Given the description of an element on the screen output the (x, y) to click on. 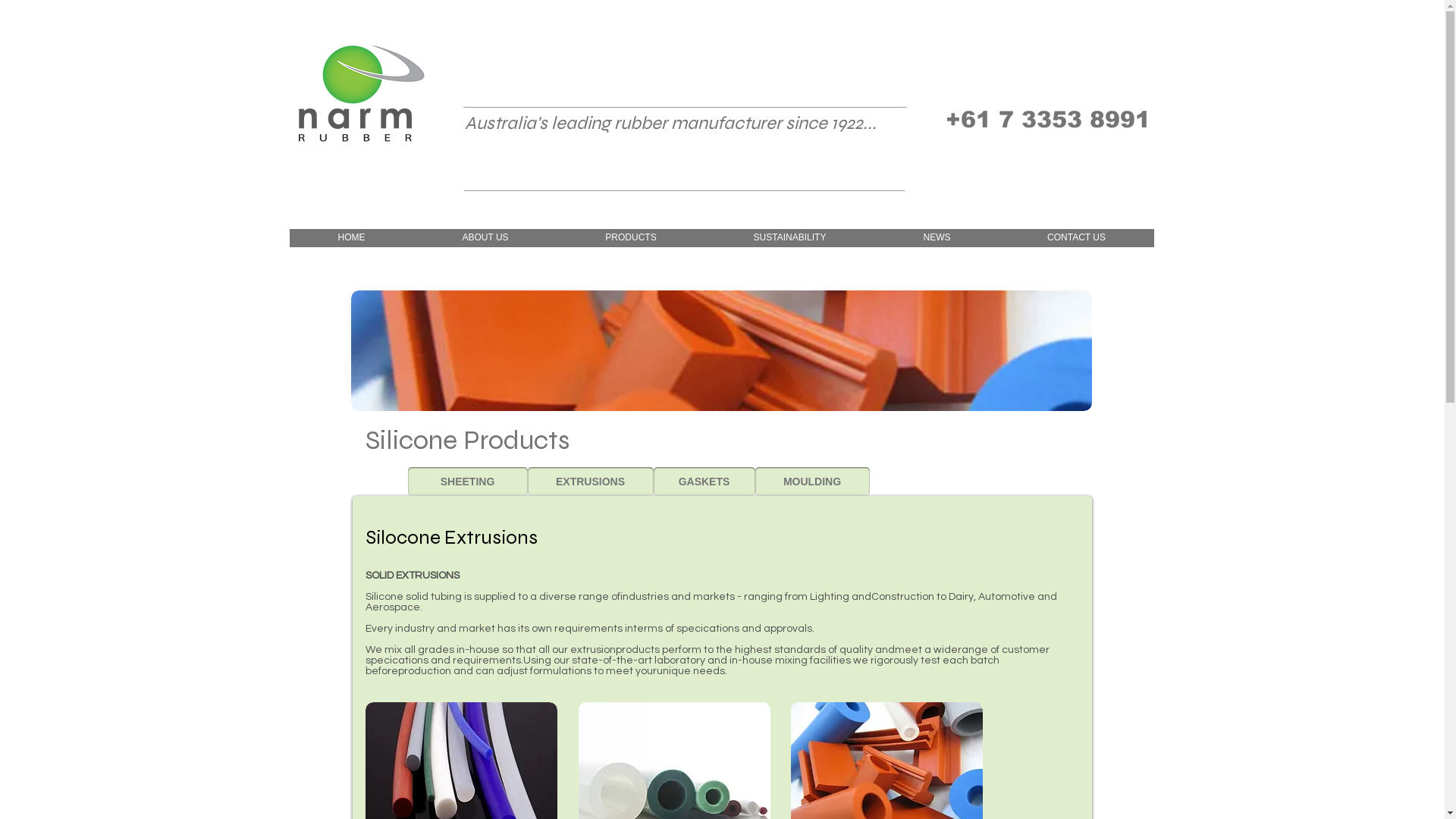
GASKETS Element type: text (704, 481)
silicone-rubber-extrusions-500x500[1].jpg Element type: hover (720, 350)
NARMLOGO.png Element type: hover (360, 94)
EXTRUSIONS Element type: text (590, 481)
HOME Element type: text (351, 242)
ABOUT US Element type: text (485, 242)
SUSTAINABILITY Element type: text (790, 242)
MOULDING Element type: text (812, 481)
SHEETING Element type: text (467, 481)
CONTACT US Element type: text (1076, 242)
NEWS Element type: text (937, 242)
